Given the description of an element on the screen output the (x, y) to click on. 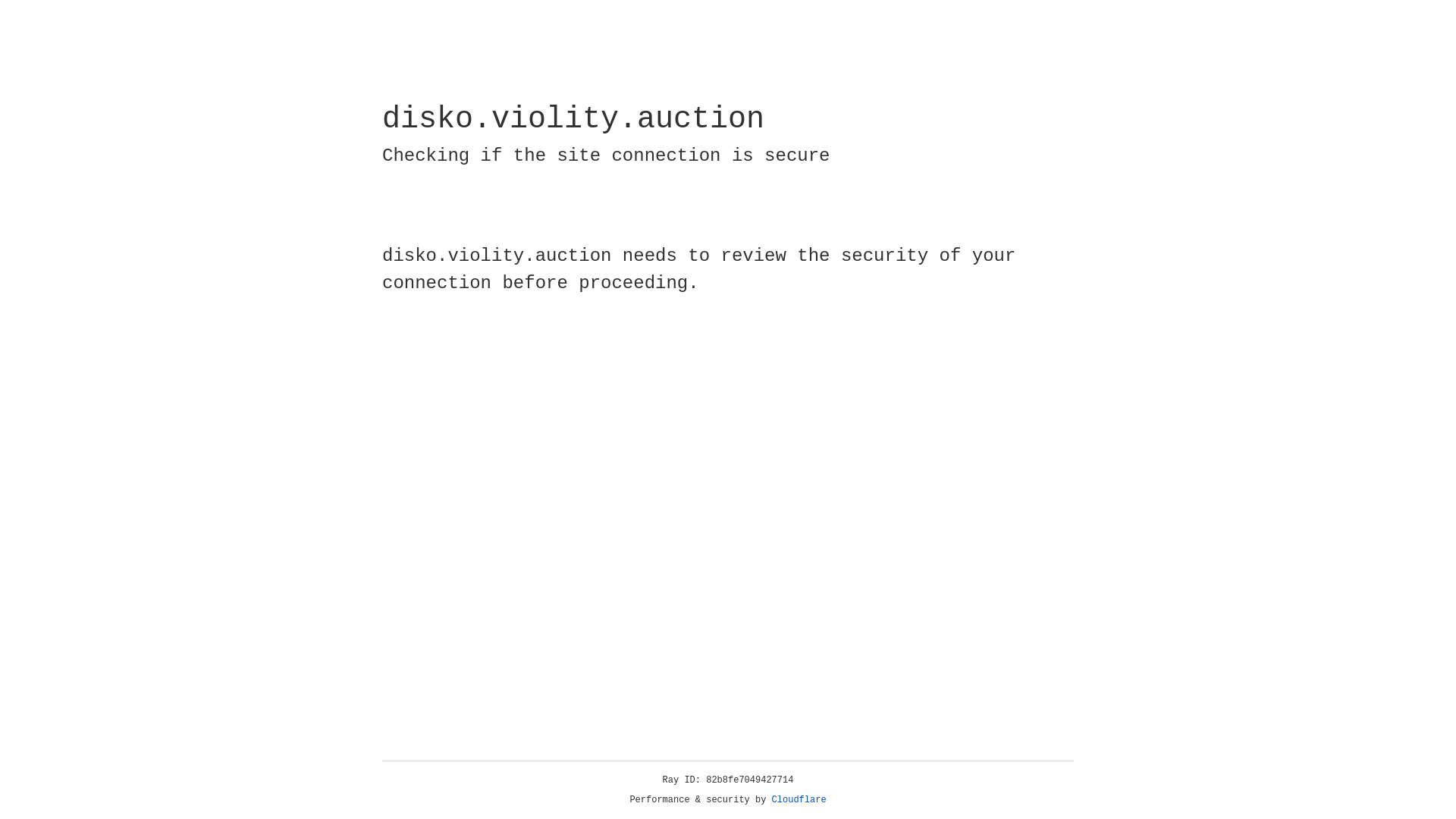
Cloudflare Element type: text (798, 799)
